Given the description of an element on the screen output the (x, y) to click on. 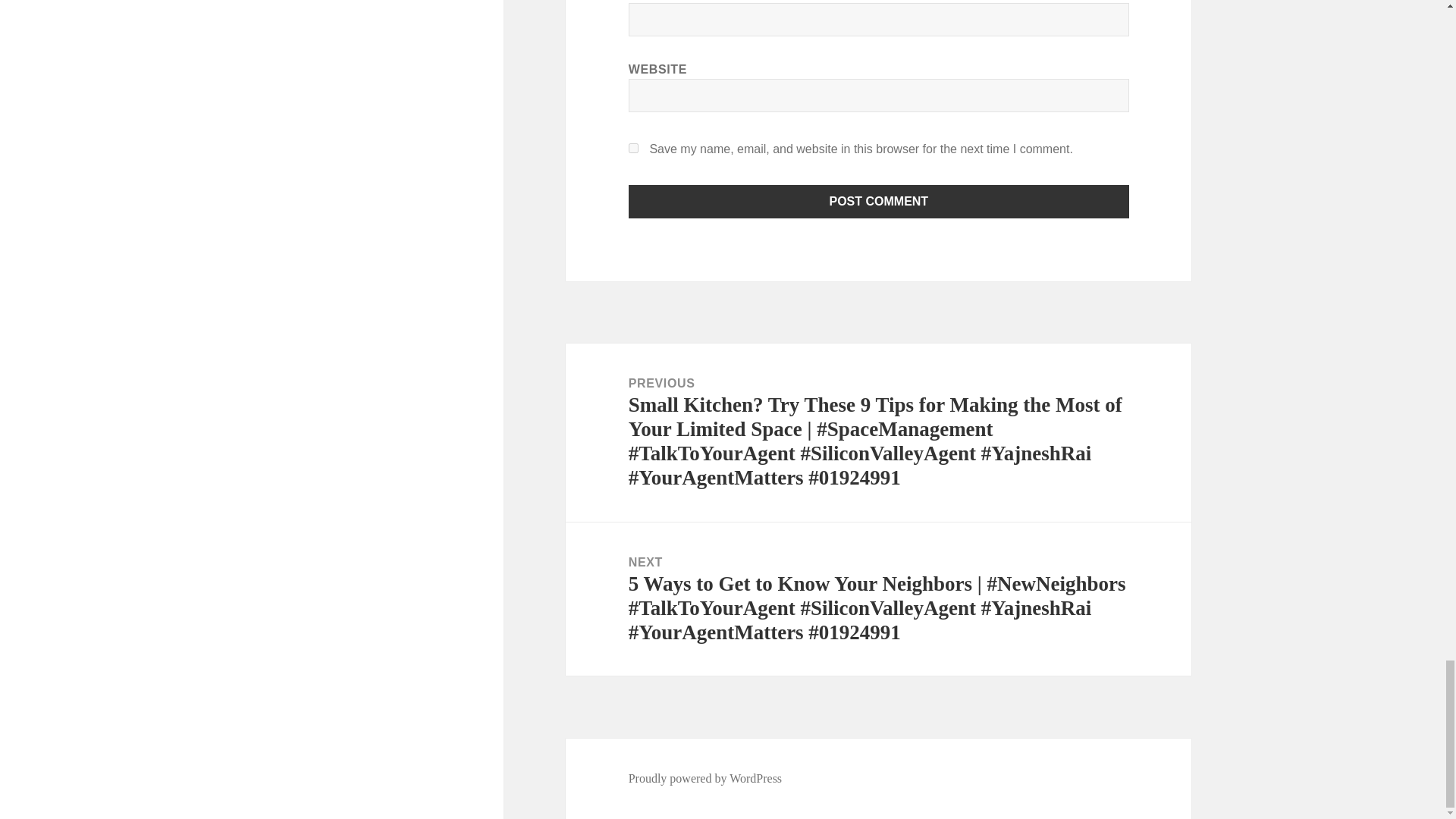
Post Comment (878, 201)
Post Comment (878, 201)
Proudly powered by WordPress (704, 778)
yes (633, 148)
